Given the description of an element on the screen output the (x, y) to click on. 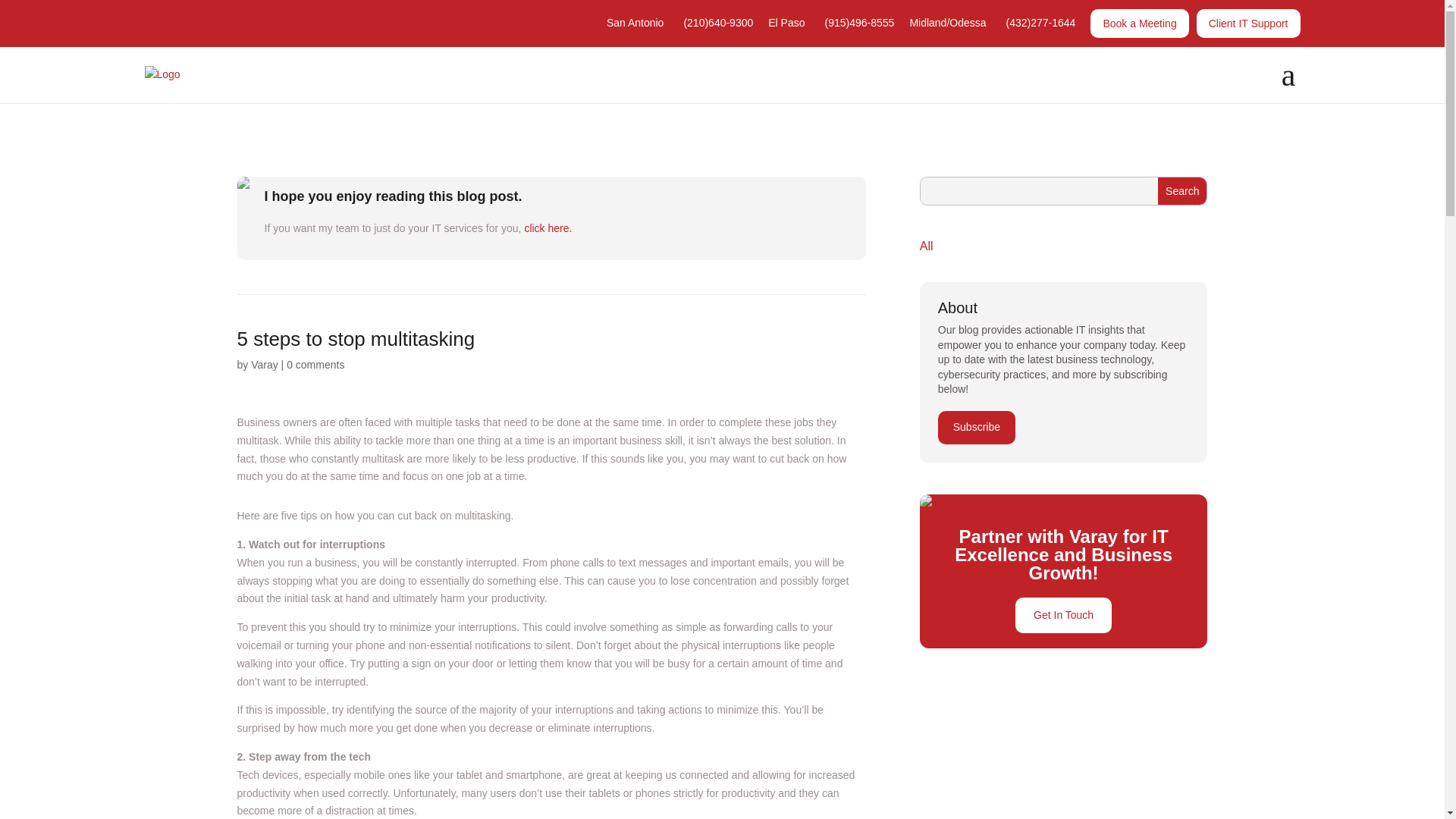
Client IT Support (1248, 23)
click here. (548, 227)
Search (1182, 190)
Varay (264, 364)
Book a Meeting (1139, 23)
Posts by Varay (264, 364)
0 comments (314, 364)
Search (1182, 190)
